Given the description of an element on the screen output the (x, y) to click on. 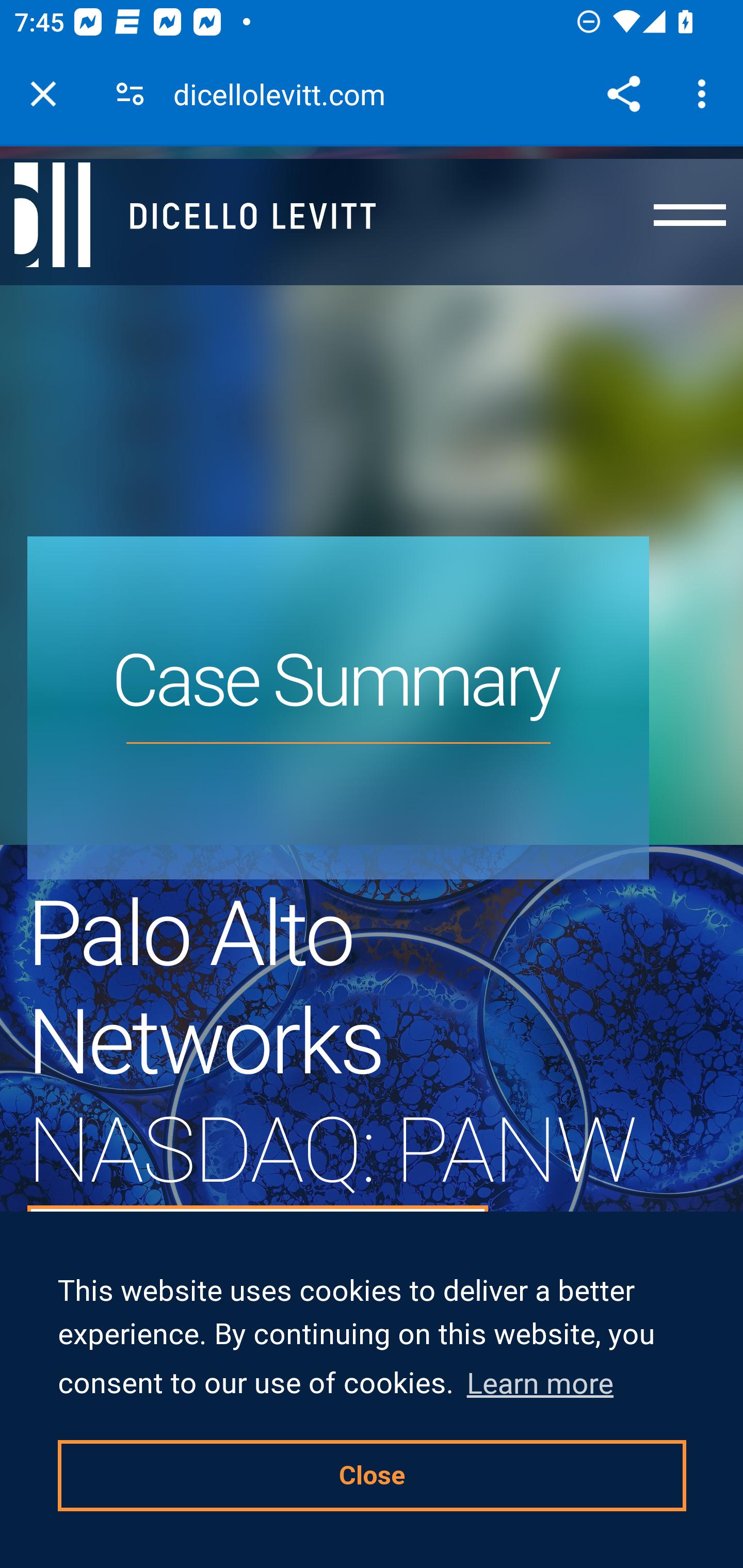
Close tab (43, 93)
Share (623, 93)
Customize and control Google Chrome (705, 93)
Connection is secure (129, 93)
dicellolevitt.com (286, 93)
Go to home page DiCello Levitt (209, 215)
learn more about cookies (540, 1382)
dismiss cookie message (372, 1475)
